Given the description of an element on the screen output the (x, y) to click on. 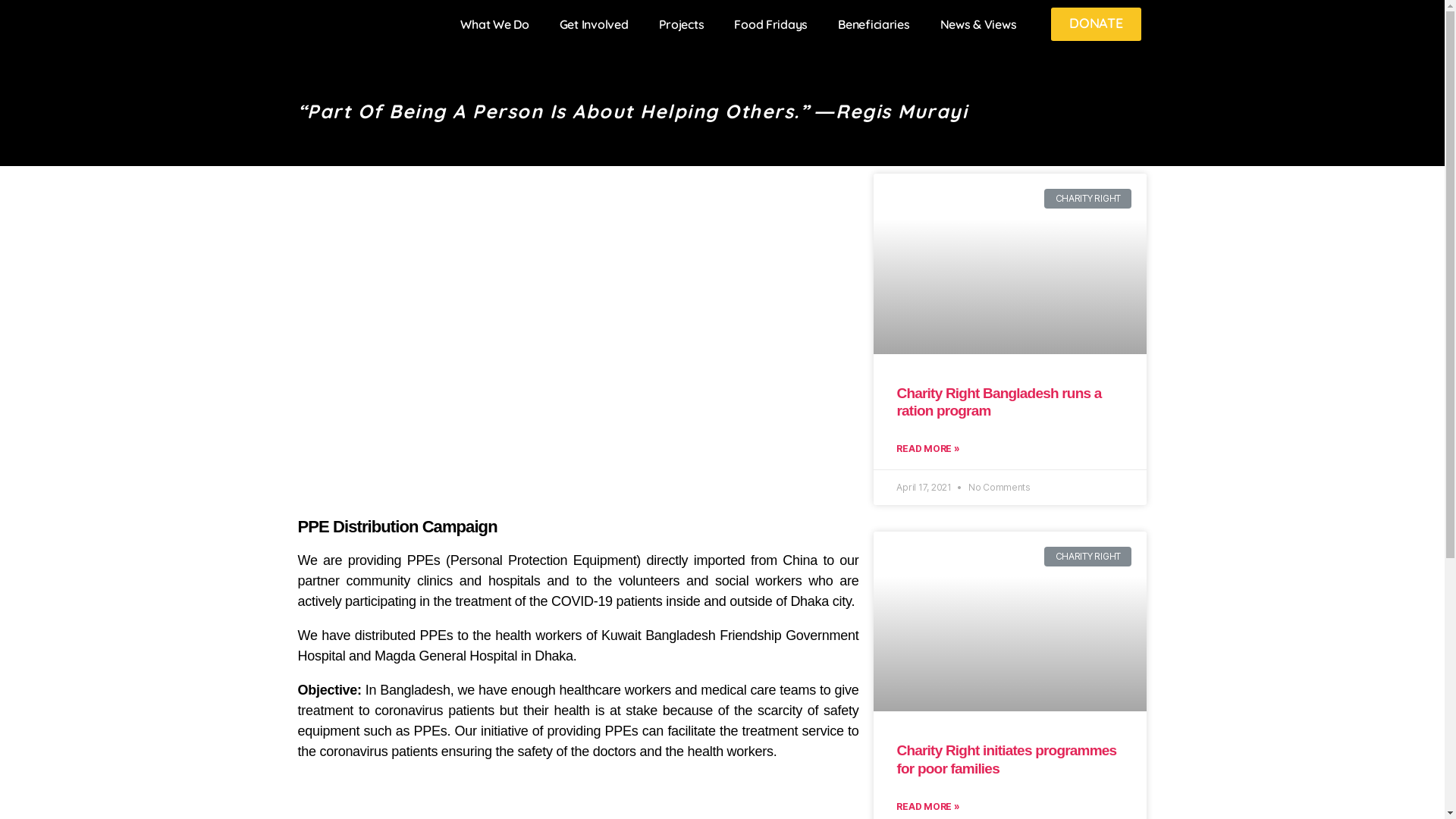
News & Views Element type: text (978, 23)
What We Do Element type: text (494, 23)
Charity Right Bangladesh runs a ration program Element type: text (998, 402)
Beneficiaries Element type: text (873, 23)
Get Involved Element type: text (593, 23)
Food Fridays Element type: text (770, 23)
Projects Element type: text (681, 23)
DONATE Element type: text (1095, 23)
Charity Right initiates programmes for poor families Element type: text (1006, 759)
